Given the description of an element on the screen output the (x, y) to click on. 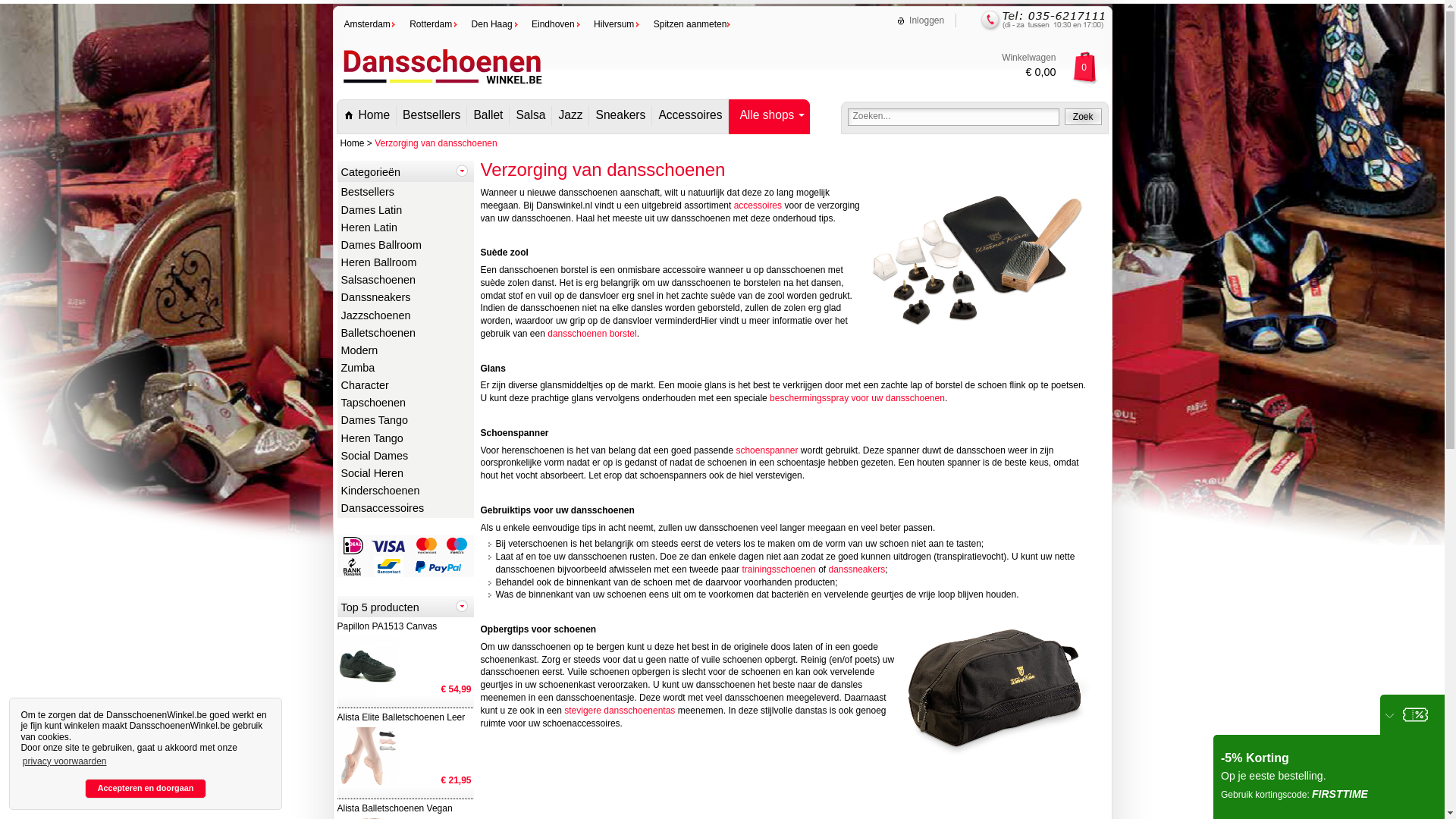
Rotterdam Element type: text (434, 23)
Zoek Element type: text (1082, 116)
Social Heren Element type: text (404, 474)
Ballet Element type: text (487, 115)
Bestsellers Element type: text (430, 115)
Heren Tango Element type: text (404, 439)
Danssneakers Element type: text (404, 298)
dansschoenen borstel Element type: text (591, 333)
accessoires Element type: text (757, 205)
danssneakers Element type: text (856, 569)
Balletschoenen Element type: text (404, 333)
https://www.dansschoenenwinkel.be/  Element type: hover (441, 89)
Heren Ballroom Element type: text (404, 263)
Heren Latin Element type: text (404, 228)
Accepteren en doorgaan Element type: text (144, 788)
Accessoires Element type: text (689, 115)
Inloggen Element type: text (920, 20)
Dames Latin Element type: text (404, 210)
Social Dames Element type: text (404, 456)
Eindhoven Element type: text (556, 23)
Tapschoenen Element type: text (404, 403)
Character Element type: text (404, 386)
Den Haag Element type: text (495, 23)
Amsterdam Element type: text (371, 23)
schoenspanner Element type: text (766, 450)
Alle shops Element type: text (769, 115)
Dames Tango Element type: text (404, 420)
Home Element type: text (352, 143)
Spitzen aanmeten Element type: text (693, 23)
Salsaschoenen Element type: text (404, 280)
Salsa Element type: text (529, 115)
privacy voorwaarden Element type: text (64, 761)
Modern Element type: text (404, 351)
Zumba Element type: text (404, 368)
Kinderschoenen Element type: text (404, 491)
trainingsschoenen Element type: text (778, 569)
Jazzschoenen Element type: text (404, 316)
Dansaccessoires Element type: text (404, 508)
Bestsellers Element type: text (404, 192)
stevigere dansschoenentas Element type: text (619, 710)
Jazz Element type: text (569, 115)
Dames Ballroom Element type: text (404, 245)
Sneakers Element type: text (619, 115)
Home Element type: text (365, 115)
Hilversum Element type: text (617, 23)
beschermingsspray voor uw dansschoenen Element type: text (856, 397)
